Given the description of an element on the screen output the (x, y) to click on. 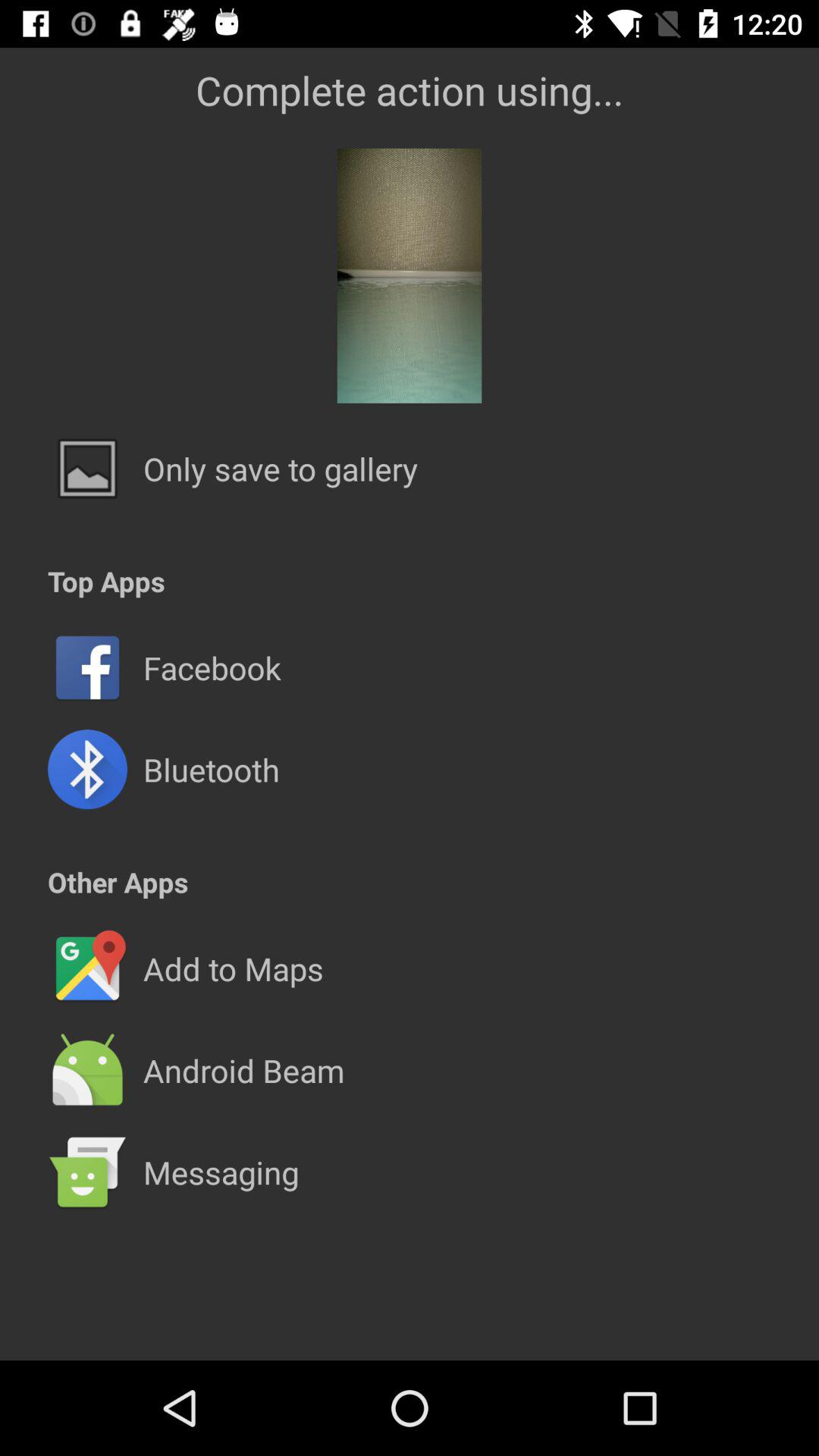
open the only save to app (280, 468)
